Given the description of an element on the screen output the (x, y) to click on. 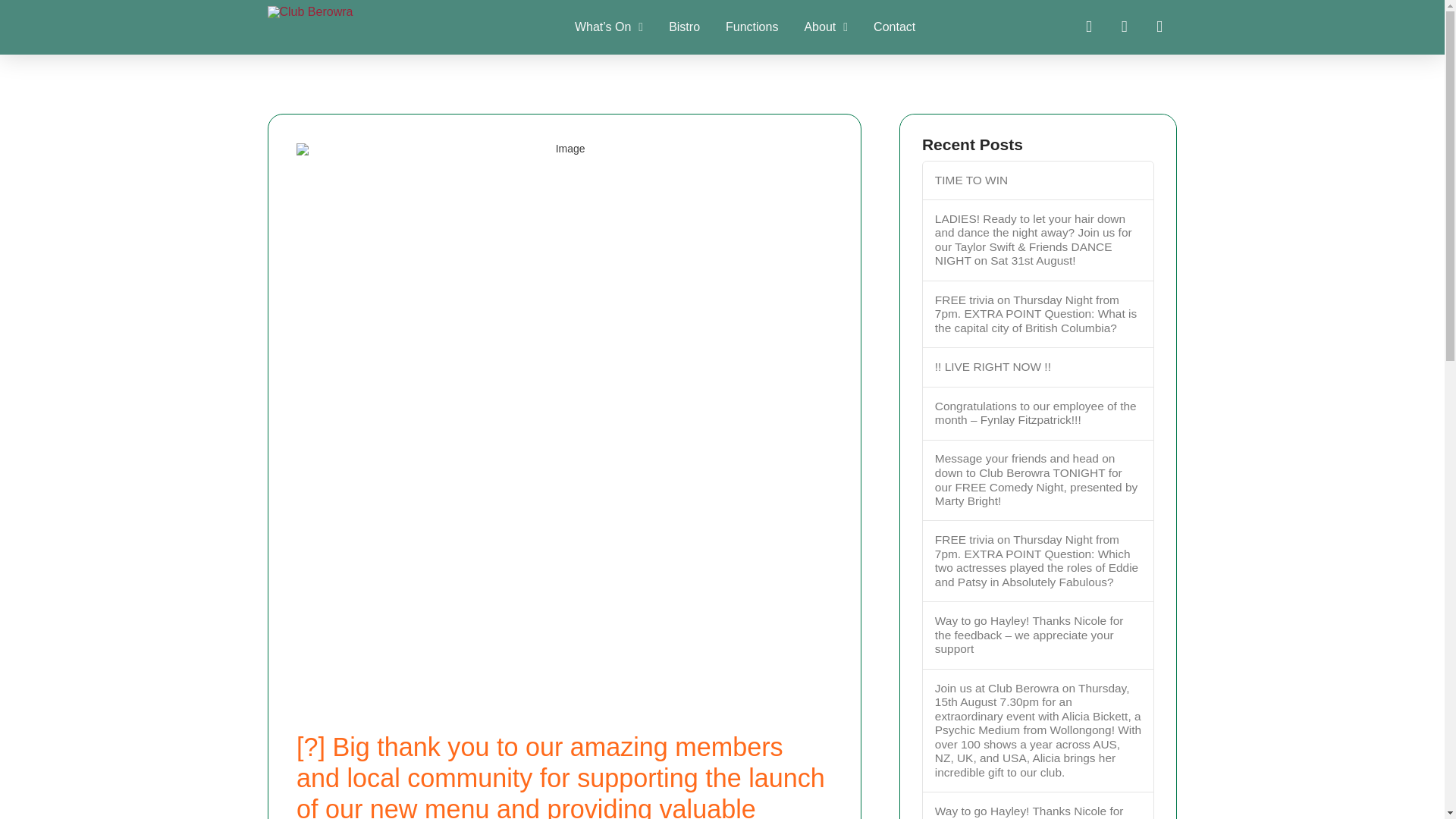
Contact (894, 27)
Bistro (684, 27)
!! LIVE RIGHT NOW !! (1037, 367)
Functions (751, 27)
About (825, 27)
TIME TO WIN (1037, 180)
